Given the description of an element on the screen output the (x, y) to click on. 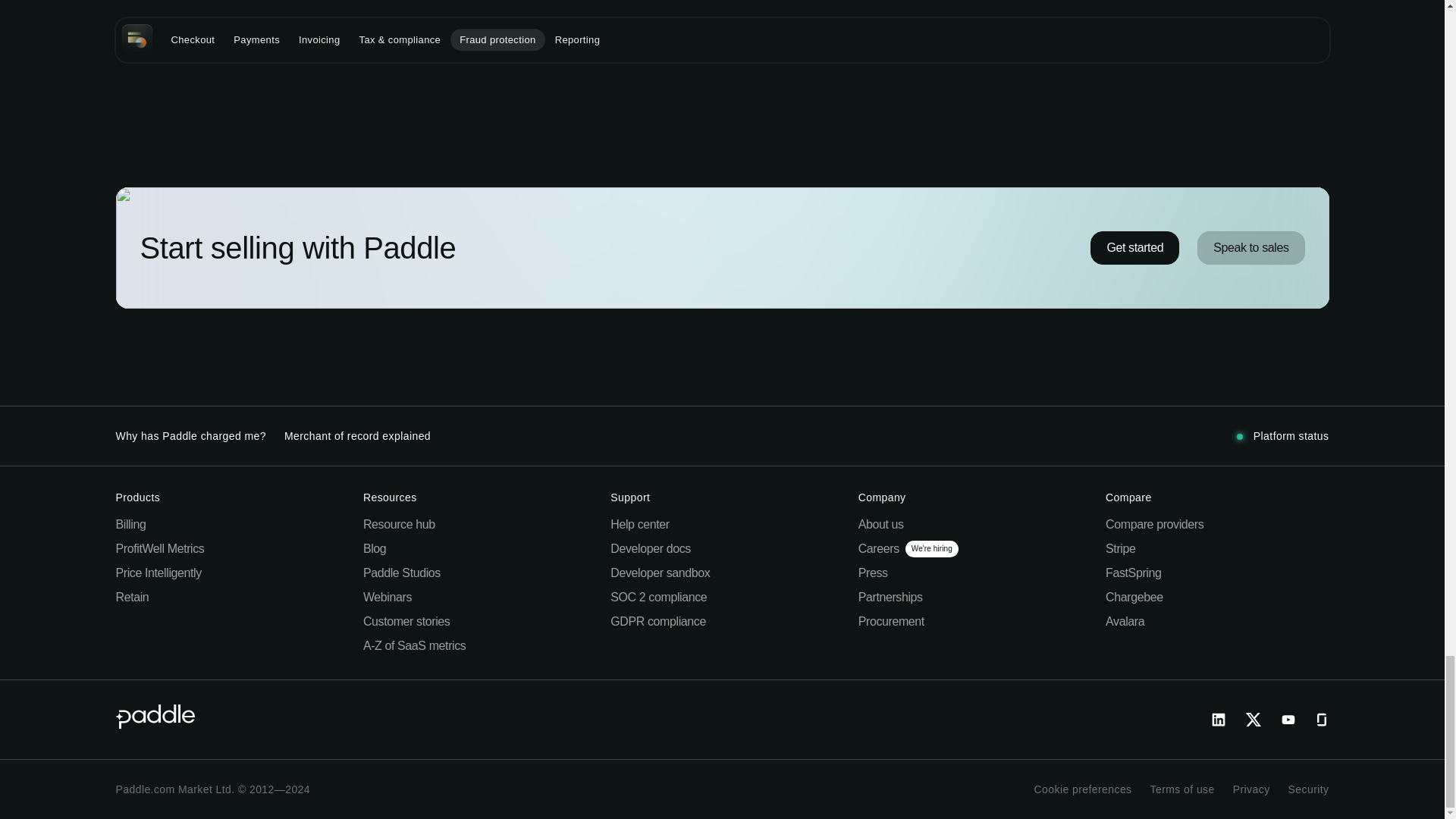
Twitter (1252, 719)
Glassdoor (1320, 719)
YouTube (1287, 719)
LinkedIn (1217, 719)
